Given the description of an element on the screen output the (x, y) to click on. 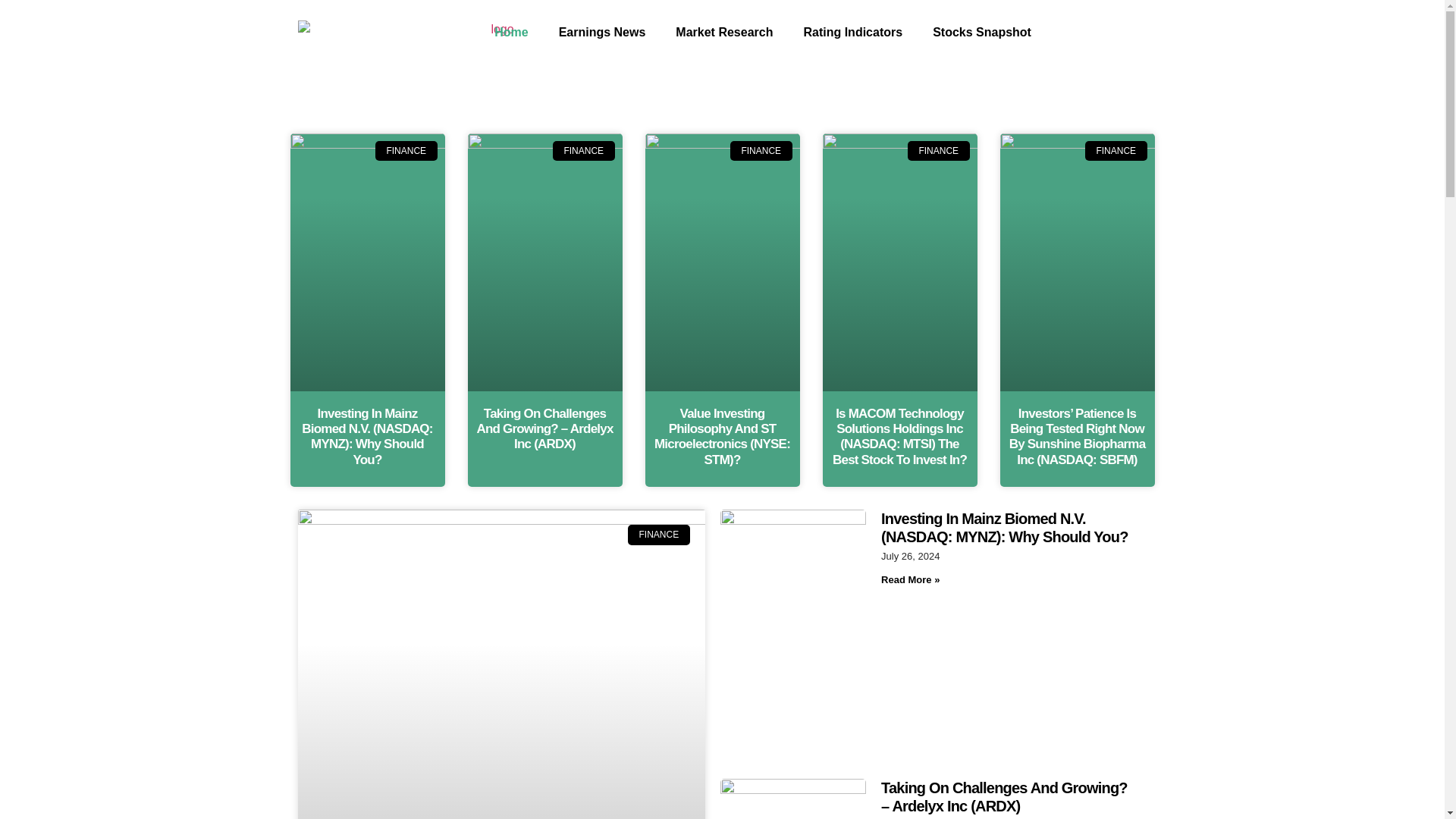
Earnings News (602, 32)
Stocks Snapshot (981, 32)
Home (511, 32)
Market Research (724, 32)
Rating Indicators (852, 32)
